Given the description of an element on the screen output the (x, y) to click on. 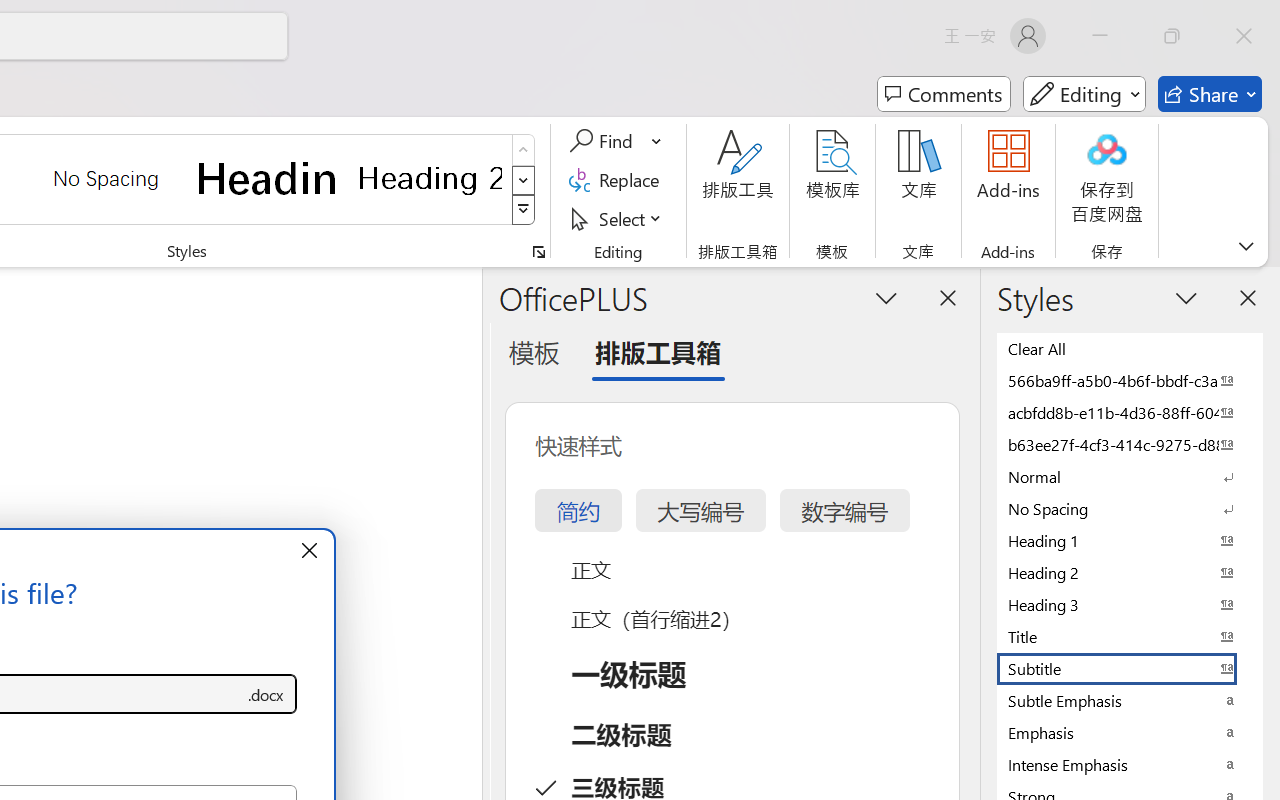
Heading 2 (429, 178)
Find (616, 141)
Close (1244, 36)
Heading 3 (1130, 604)
Share (1210, 94)
b63ee27f-4cf3-414c-9275-d88e3f90795e (1130, 444)
Emphasis (1130, 732)
Select (618, 218)
Heading 1 (267, 178)
Replace... (617, 179)
Minimize (1099, 36)
Comments (943, 94)
